Given the description of an element on the screen output the (x, y) to click on. 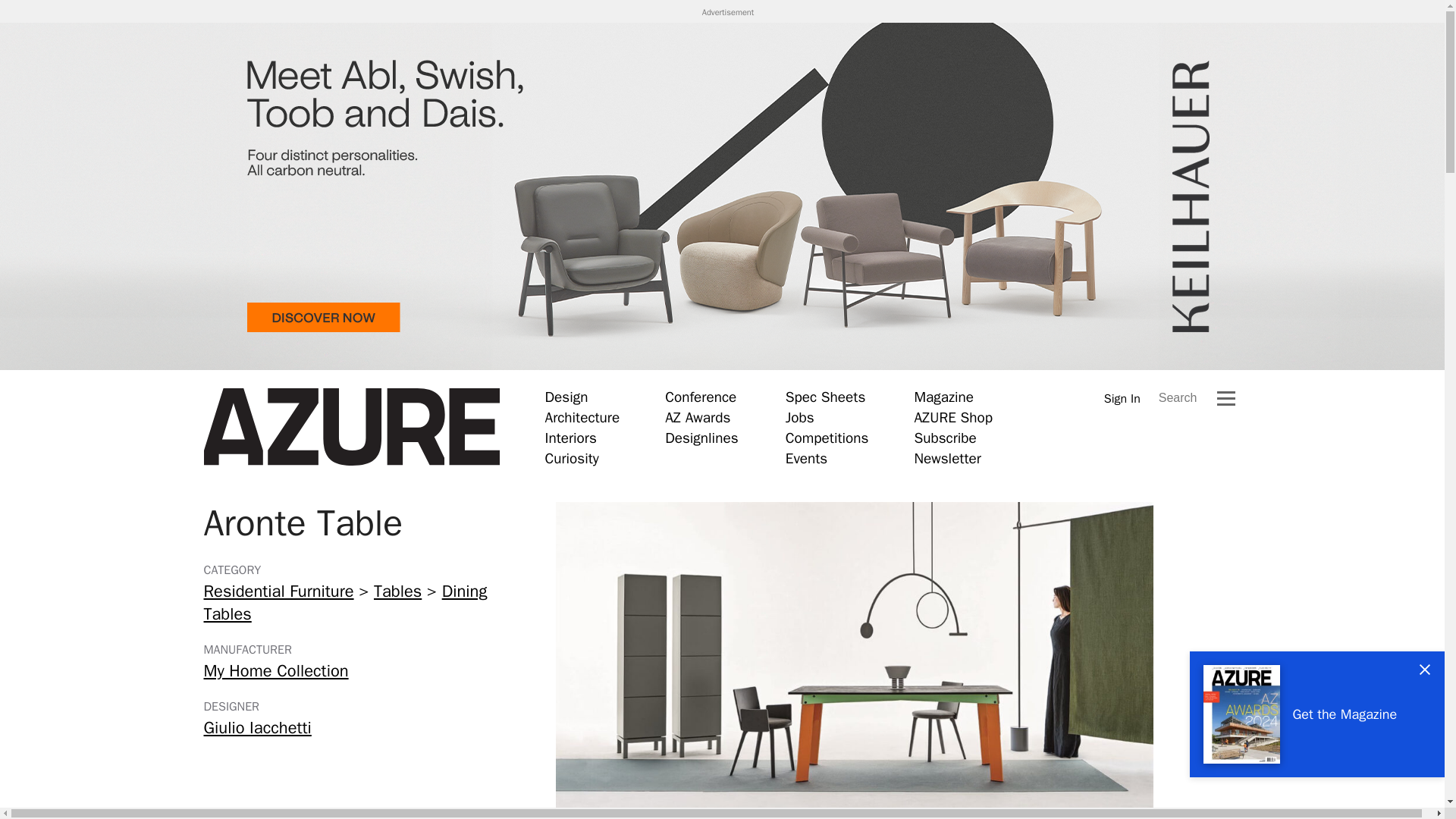
Design (566, 397)
Magazine (944, 397)
Curiosity (571, 458)
Conference (700, 397)
Designlines (701, 438)
Interiors (569, 438)
Architecture (582, 417)
Spec Sheets (825, 397)
Competitions (827, 438)
Search (1178, 397)
Azure Magazine (351, 426)
AZ Awards (697, 417)
AZURE Shop (953, 417)
Sign In (1122, 398)
Events (806, 458)
